Given the description of an element on the screen output the (x, y) to click on. 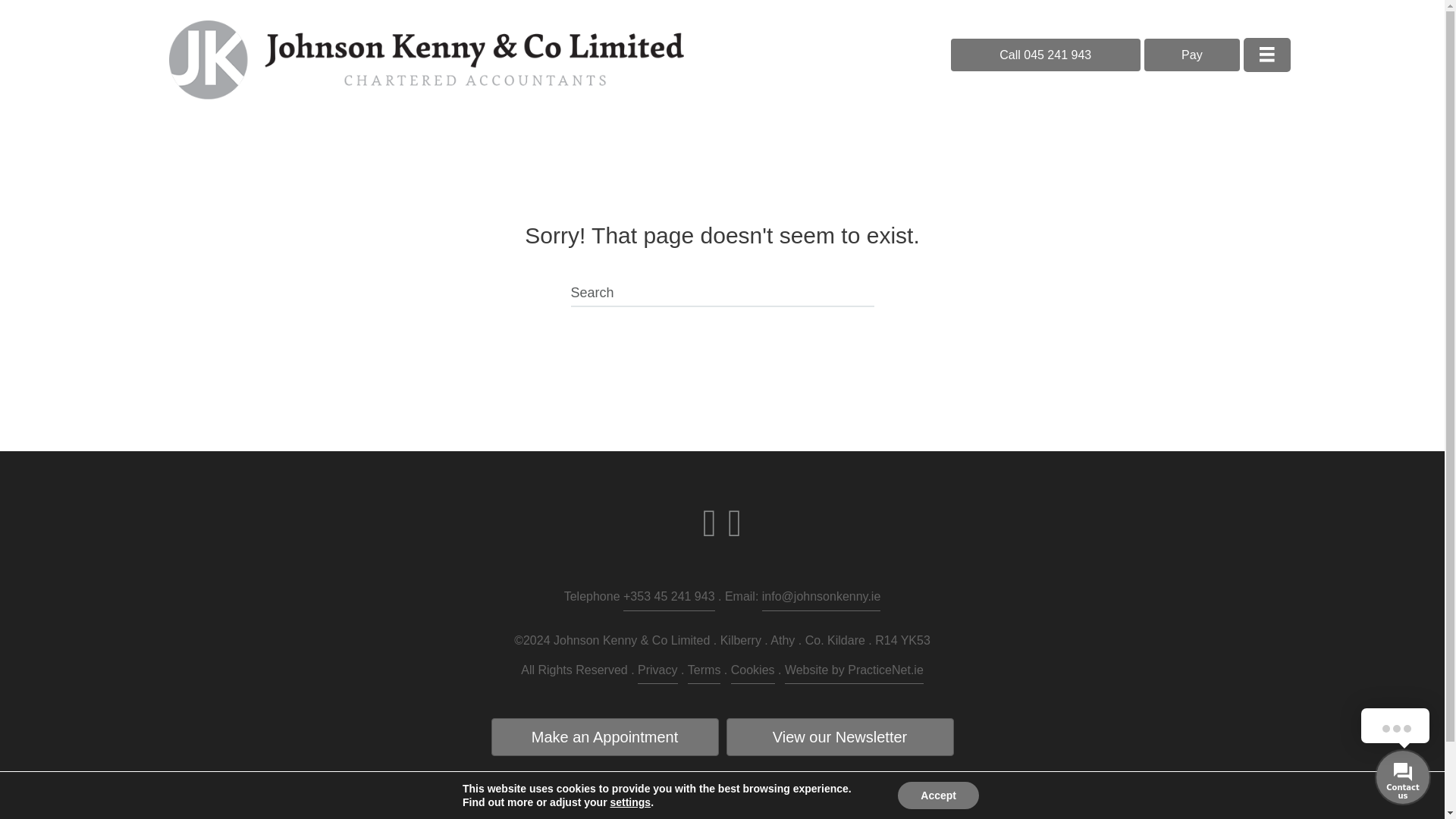
Make an Appointment (605, 736)
Type and press Enter to search. (721, 294)
Terms (703, 672)
Call 045 241 943 (1045, 54)
View our Newsletter (839, 736)
Cookies (752, 672)
Search (721, 294)
Privacy (657, 672)
Johnson-Kenny-and-Co-logo (426, 59)
Accept (938, 795)
Pay (1192, 54)
chartered-accountants-ireland-logo-min (650, 802)
ACCA LOGO RED (749, 802)
Search (721, 294)
Website by PracticeNet.ie (853, 672)
